Given the description of an element on the screen output the (x, y) to click on. 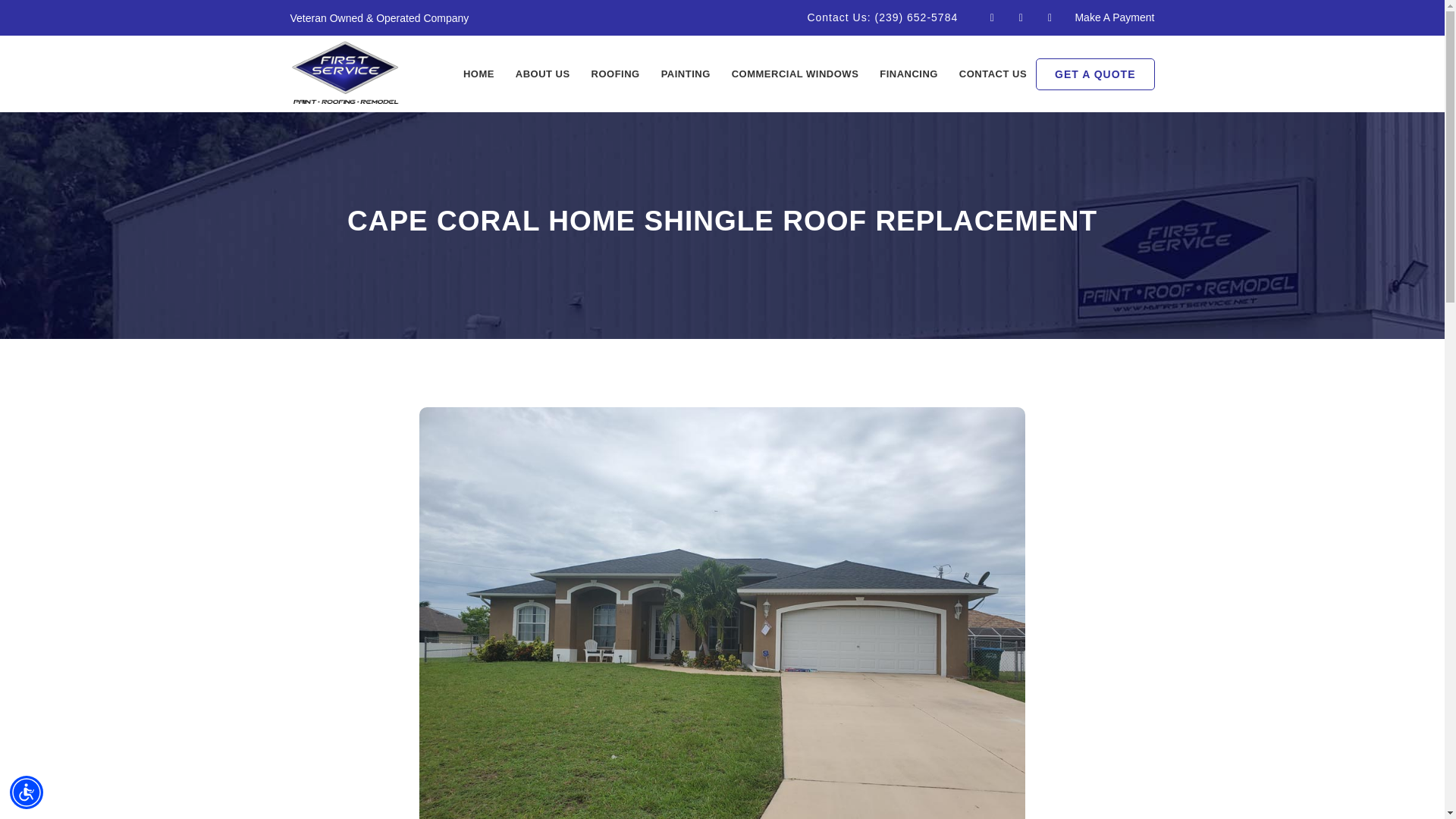
HOME (479, 74)
COMMERCIAL WINDOWS (795, 74)
Accessibility Menu (26, 792)
ROOFING (615, 74)
Make A Payment (1114, 17)
FINANCING (908, 74)
ABOUT US (542, 74)
GET A QUOTE (1094, 74)
PAINTING (685, 74)
CONTACT US (992, 74)
